Given the description of an element on the screen output the (x, y) to click on. 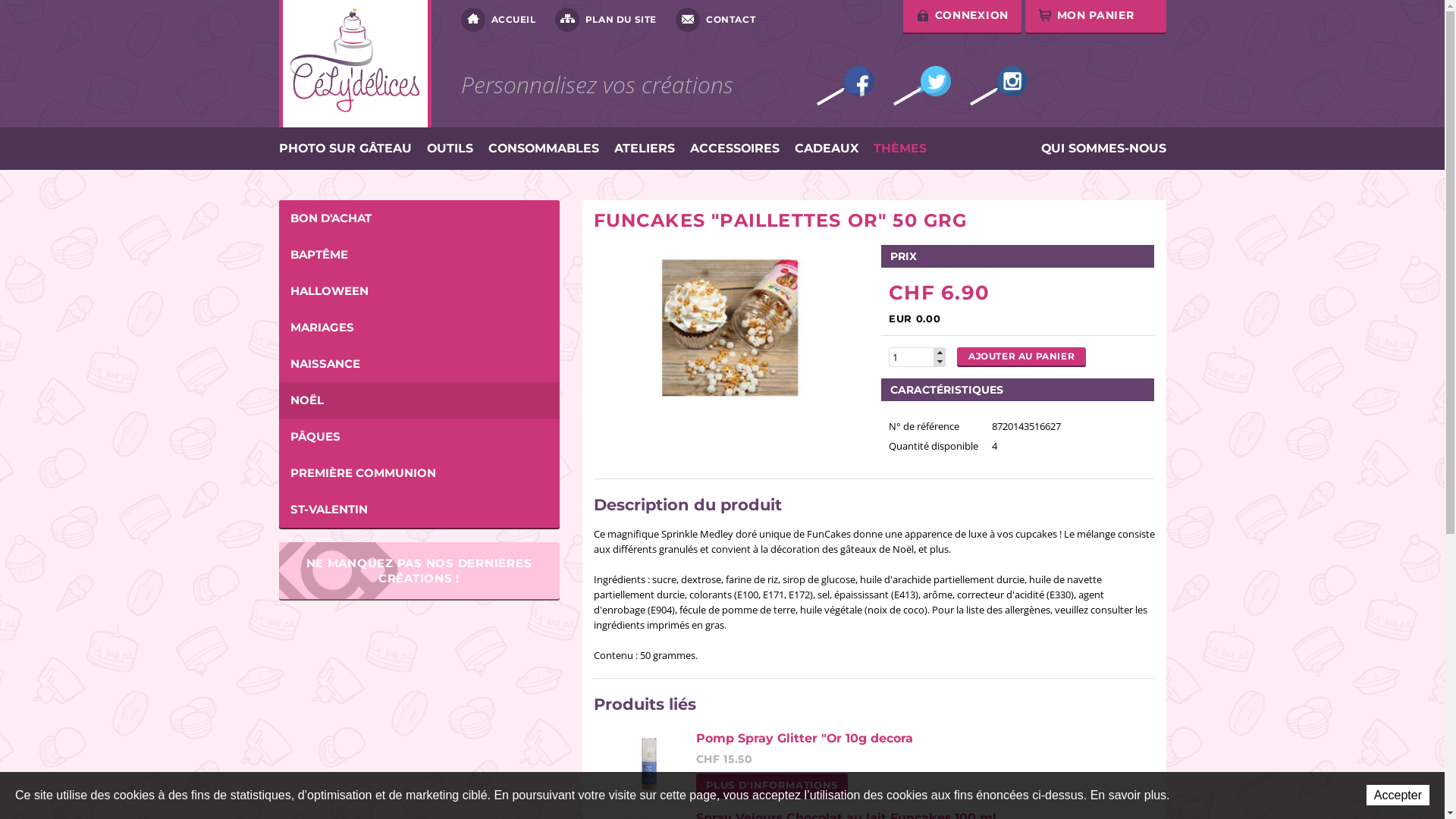
ST-VALENTIN Element type: text (419, 509)
AJOUTER AU PANIER Element type: text (1021, 356)
Accepter Element type: text (1397, 794)
- Element type: text (939, 362)
QUI SOMMES-NOUS Element type: text (1102, 148)
ACCUEIL Element type: text (498, 19)
HALLOWEEN Element type: text (419, 291)
Twitter Element type: text (921, 85)
ACCESSOIRES Element type: text (734, 148)
OUTILS Element type: text (449, 148)
CONNEXION Element type: text (962, 16)
MON PANIER Element type: text (1095, 16)
BON D'ACHAT Element type: text (419, 218)
Facebook Element type: text (844, 85)
+ Element type: text (939, 352)
PLAN DU SITE Element type: text (605, 19)
CADEAUX Element type: text (826, 148)
NAISSANCE Element type: text (419, 363)
ATELIERS Element type: text (644, 148)
Pomp Spray Glitter "Or 10g decora Element type: text (804, 738)
PLUS D'INFORMATIONS Element type: text (771, 785)
CONTACT Element type: text (715, 19)
MARIAGES Element type: text (419, 327)
Instagram Element type: text (997, 85)
CONSOMMABLES Element type: text (543, 148)
